Given the description of an element on the screen output the (x, y) to click on. 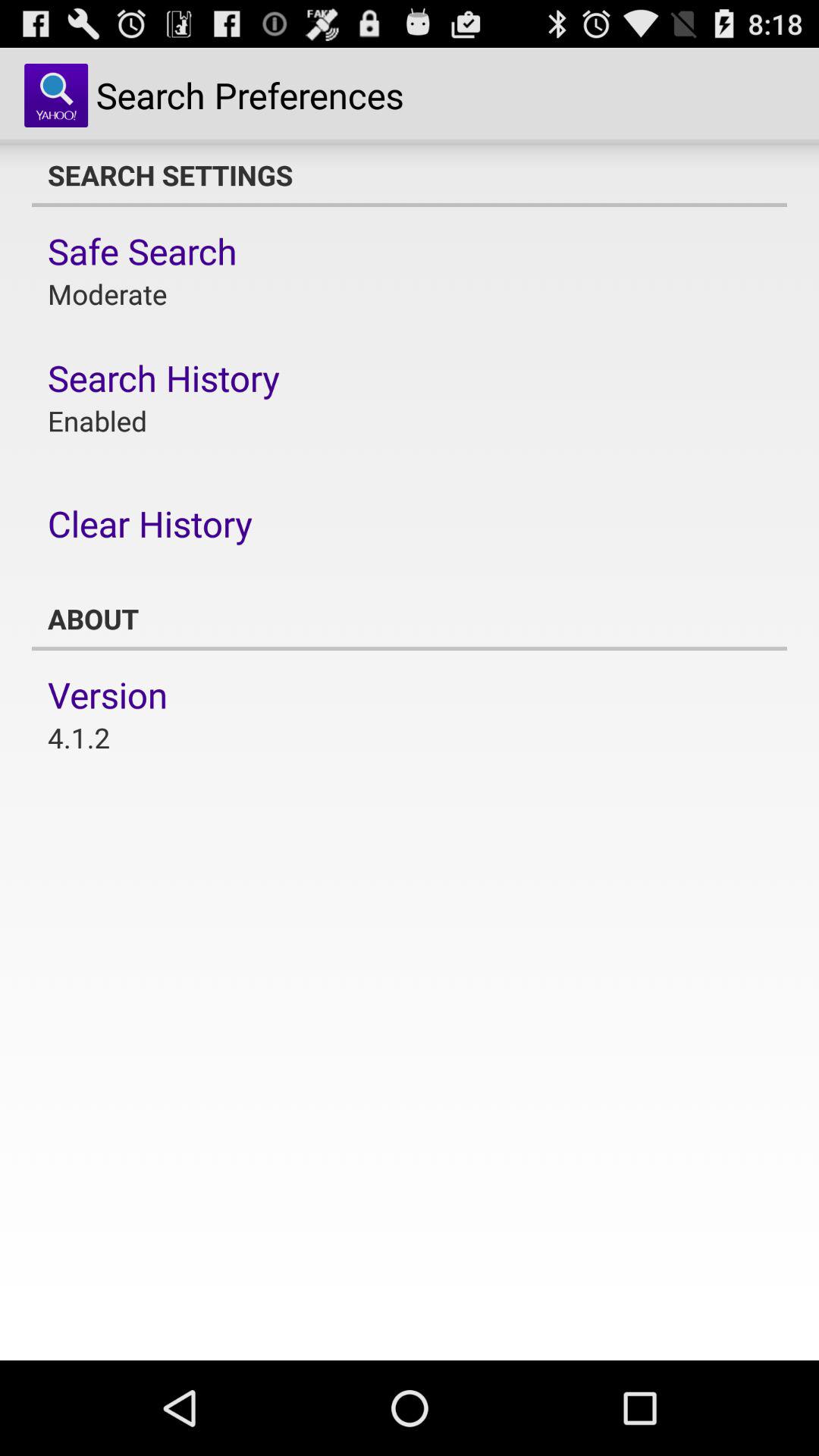
launch app above the safe search (409, 175)
